Given the description of an element on the screen output the (x, y) to click on. 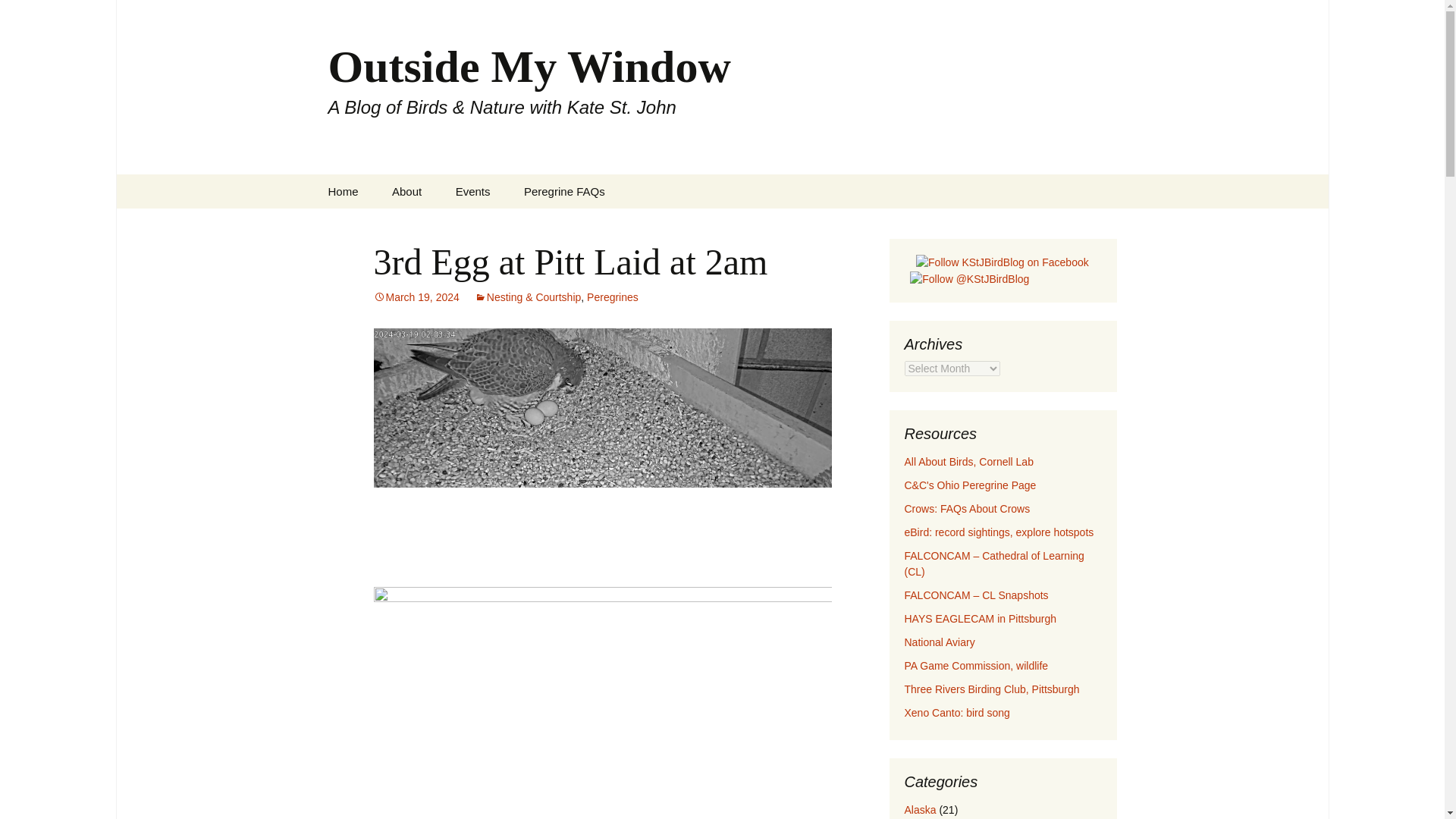
Peregrine webcam, Univ of Pittsburgh (993, 563)
PGC wildlife link (976, 665)
Events (473, 191)
About (406, 191)
All About Birds online guide (968, 461)
Peregrine FAQs (564, 191)
All About Birds, Cornell Lab (968, 461)
March 19, 2024 (415, 297)
FAQs About Crows from Corvid Research blog (966, 508)
Listserv of bird sightings in PA (998, 532)
